Given the description of an element on the screen output the (x, y) to click on. 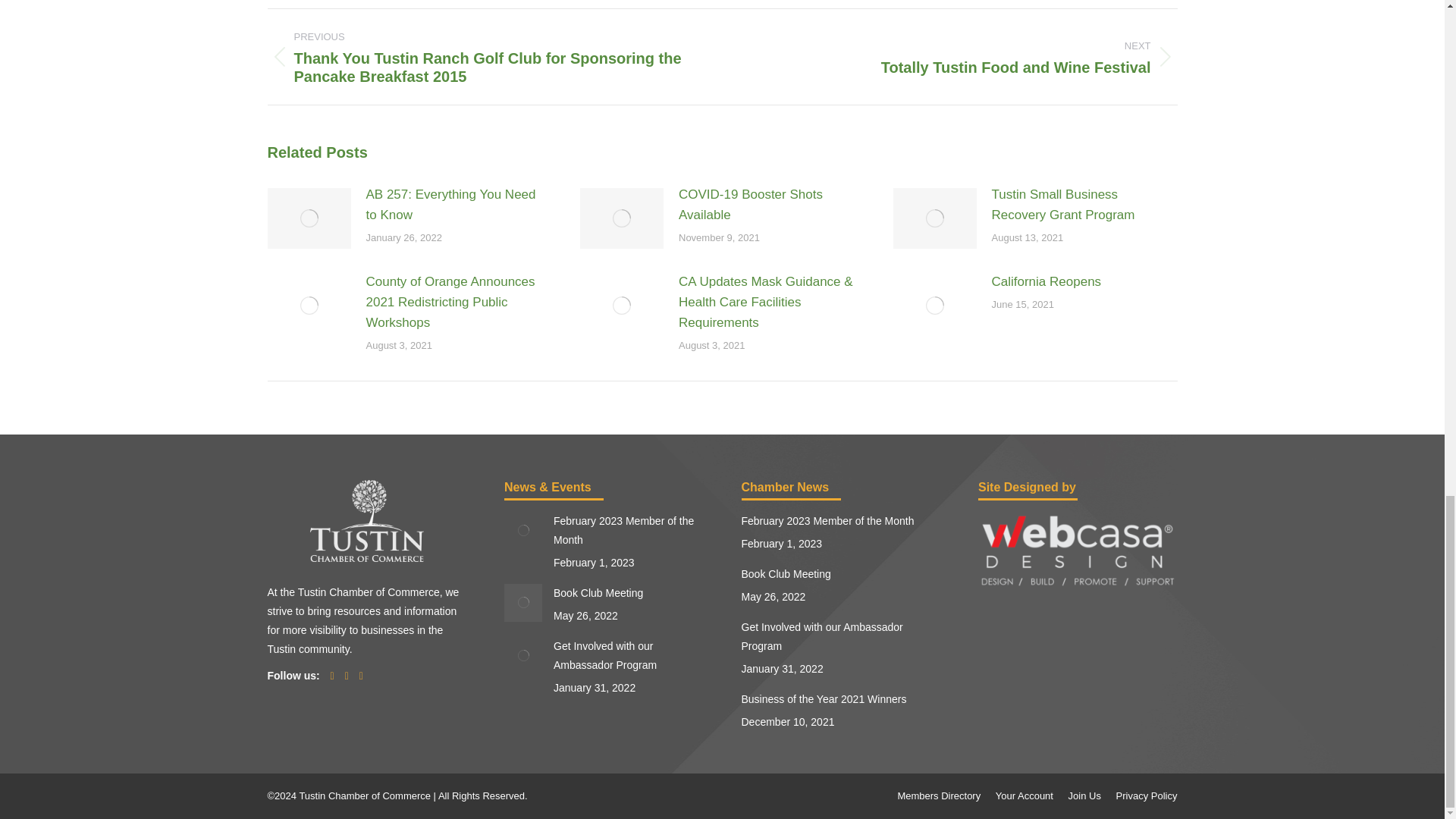
YouTube (343, 675)
Facebook (328, 675)
Tustin Chamber of Commerce (366, 558)
